Given the description of an element on the screen output the (x, y) to click on. 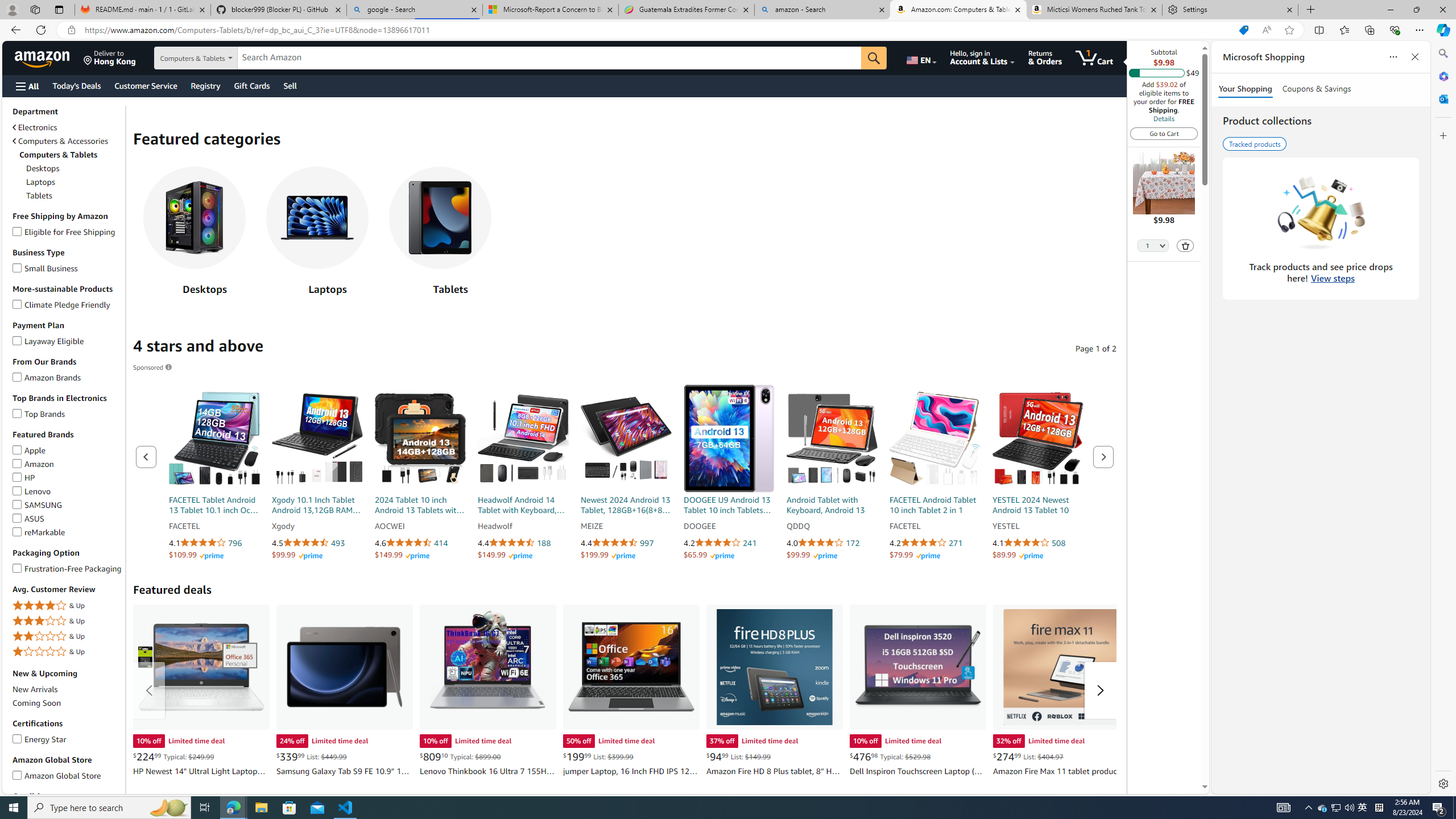
Delete (1184, 245)
QDDQ (831, 526)
Eligible for Free Shipping (17, 229)
New Arrivals (67, 689)
Search Amazon (549, 57)
Small Business Small Business (45, 267)
Top Brands (17, 411)
Top BrandsTop Brands (67, 413)
Electronics (67, 127)
4.4 out of 5 stars 188 ratings (523, 543)
